Given the description of an element on the screen output the (x, y) to click on. 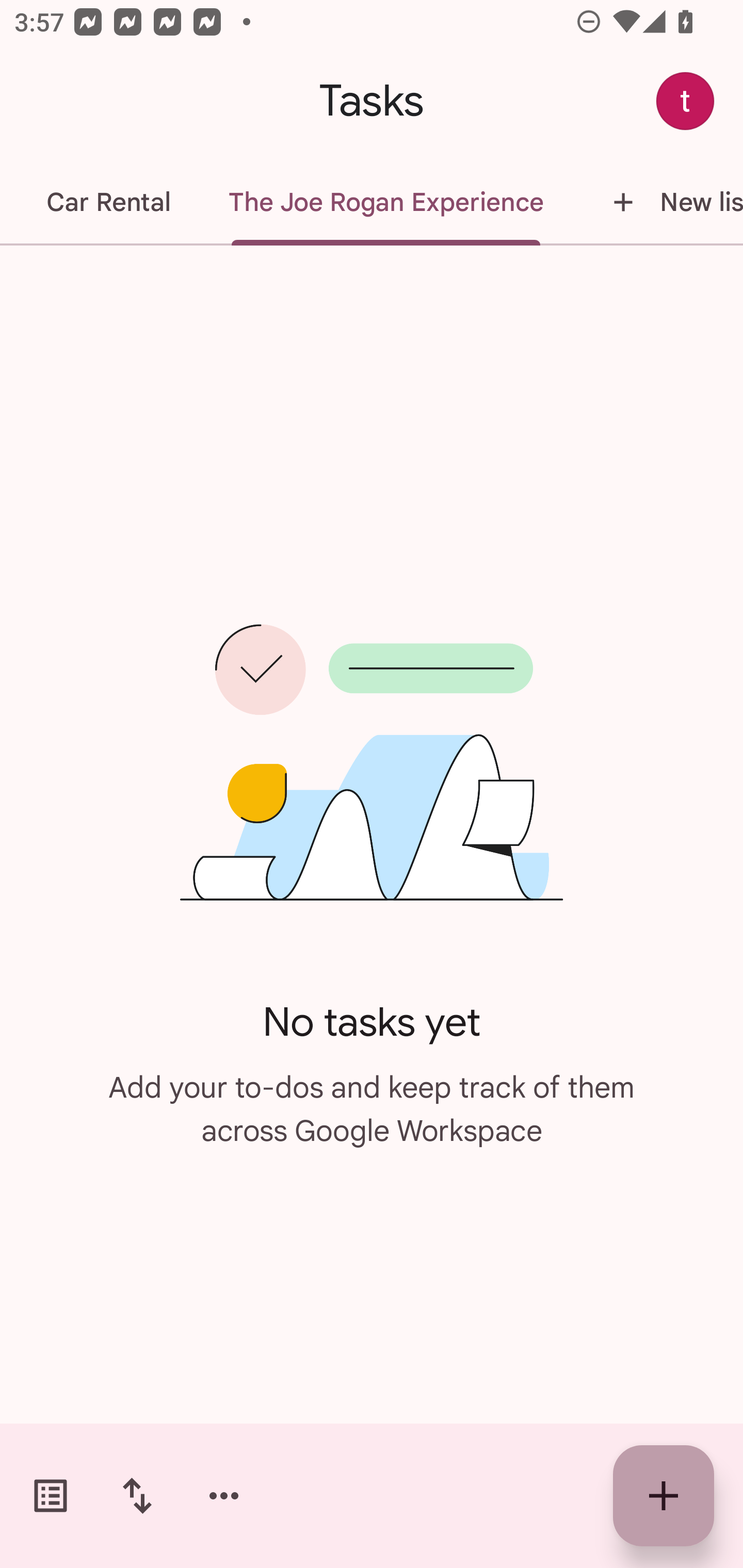
Car Rental (108, 202)
New list (657, 202)
Switch task lists (50, 1495)
Create new task (663, 1495)
Change sort order (136, 1495)
More options (223, 1495)
